Given the description of an element on the screen output the (x, y) to click on. 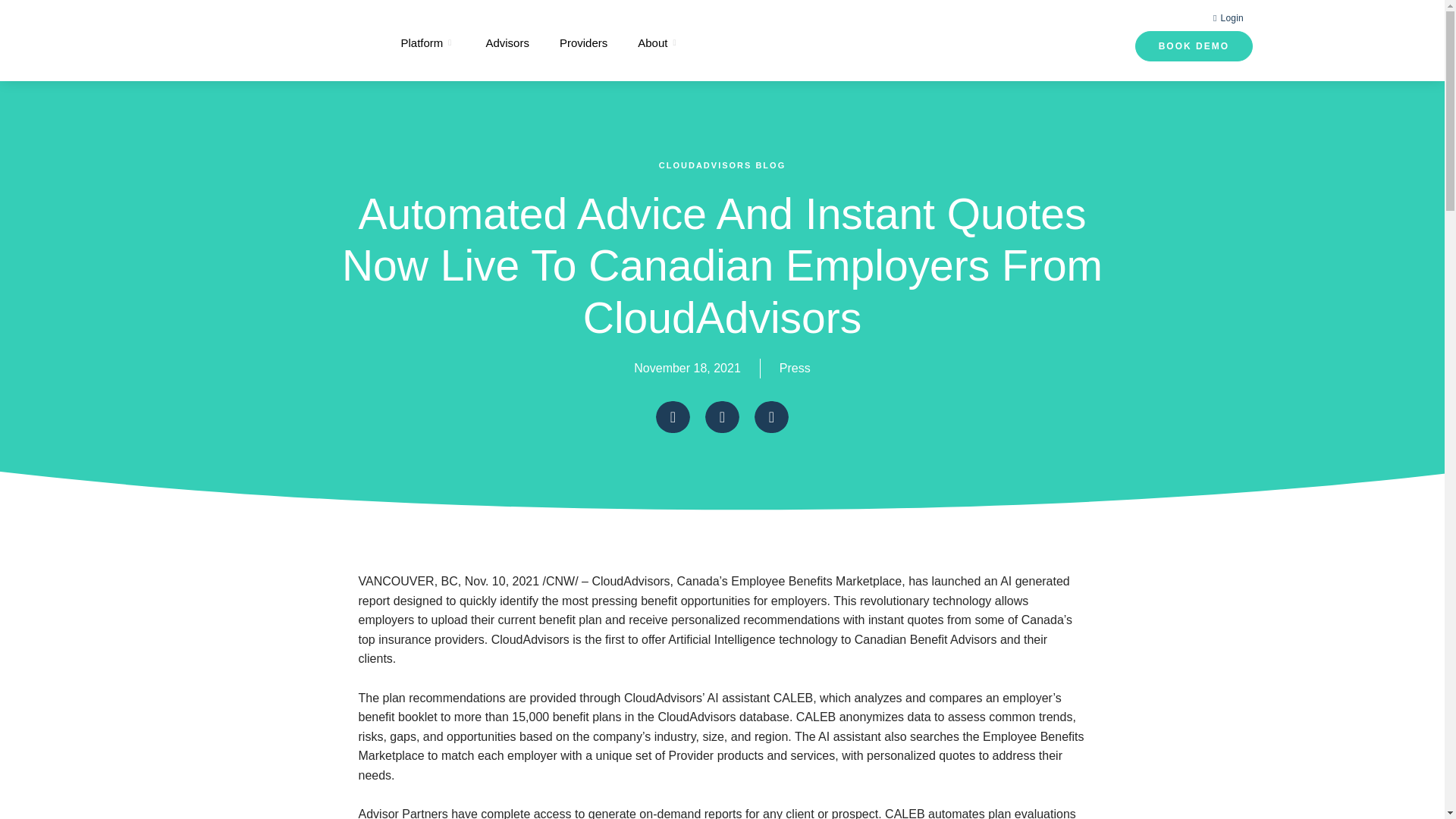
Advisors (507, 42)
BOOK DEMO (1193, 46)
Press (794, 367)
Providers (583, 42)
About (658, 42)
Platform (427, 42)
Login (1227, 17)
November 18, 2021 (687, 368)
